Given the description of an element on the screen output the (x, y) to click on. 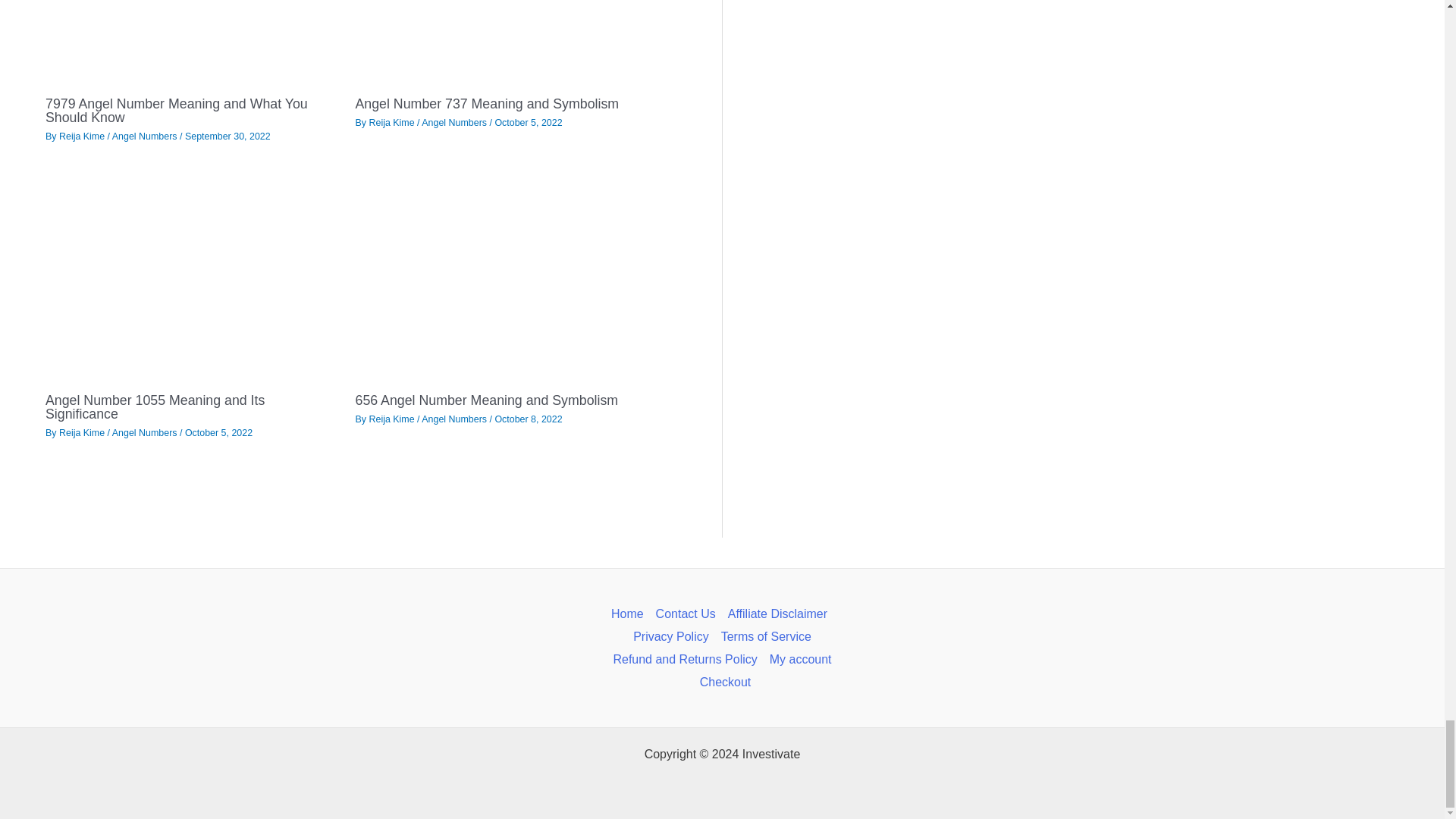
View all posts by Reija Kime (83, 136)
View all posts by Reija Kime (392, 122)
View all posts by Reija Kime (392, 419)
View all posts by Reija Kime (83, 432)
